Given the description of an element on the screen output the (x, y) to click on. 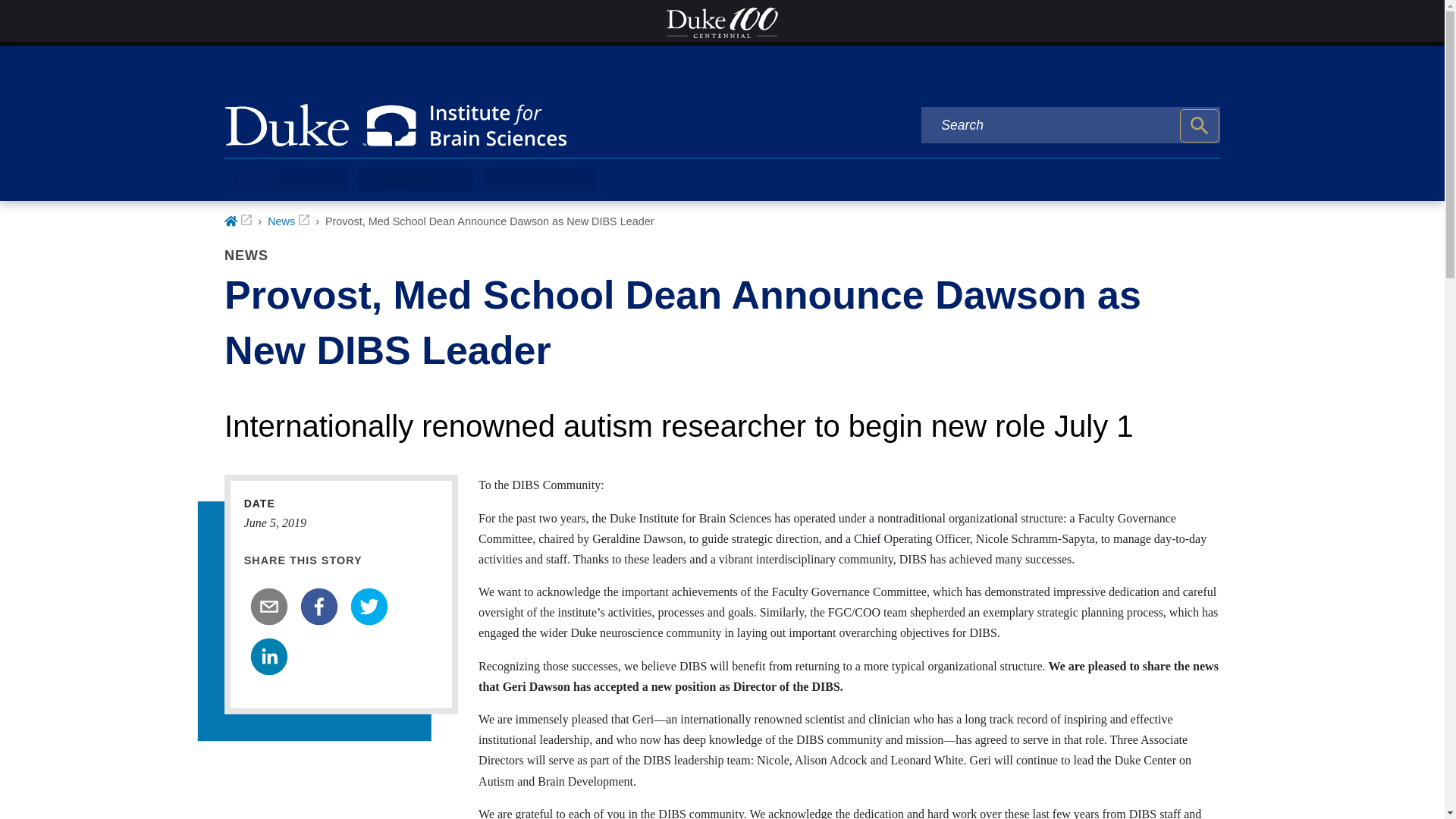
Home (237, 221)
News (287, 221)
